Given the description of an element on the screen output the (x, y) to click on. 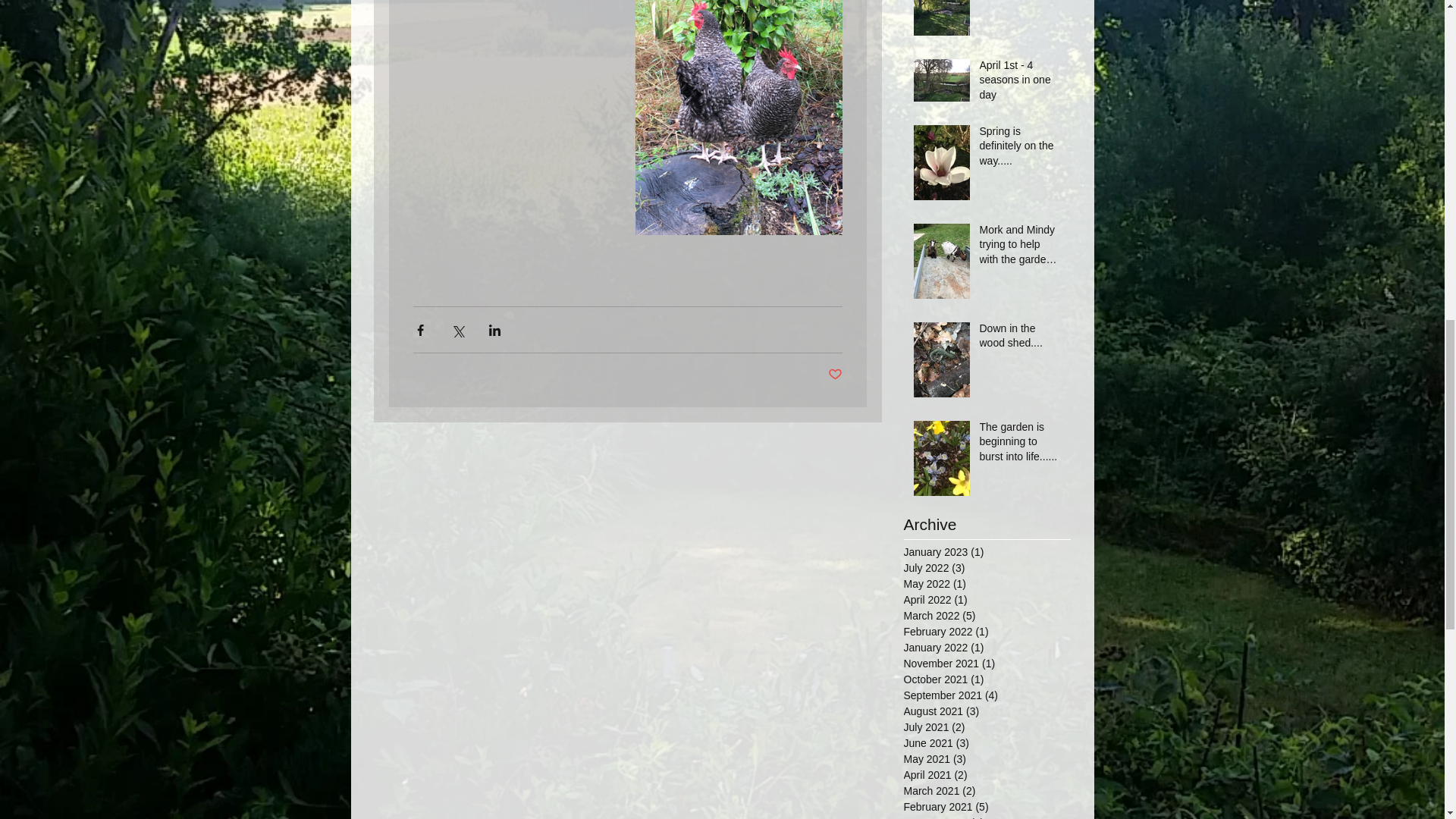
Post not marked as liked (835, 374)
The garden is beginning to burst into life...... (1020, 445)
Spring is definitely on the way..... (1020, 149)
Down in the wood shed.... (1020, 339)
April 1st - 4 seasons in one day (1020, 83)
